Given the description of an element on the screen output the (x, y) to click on. 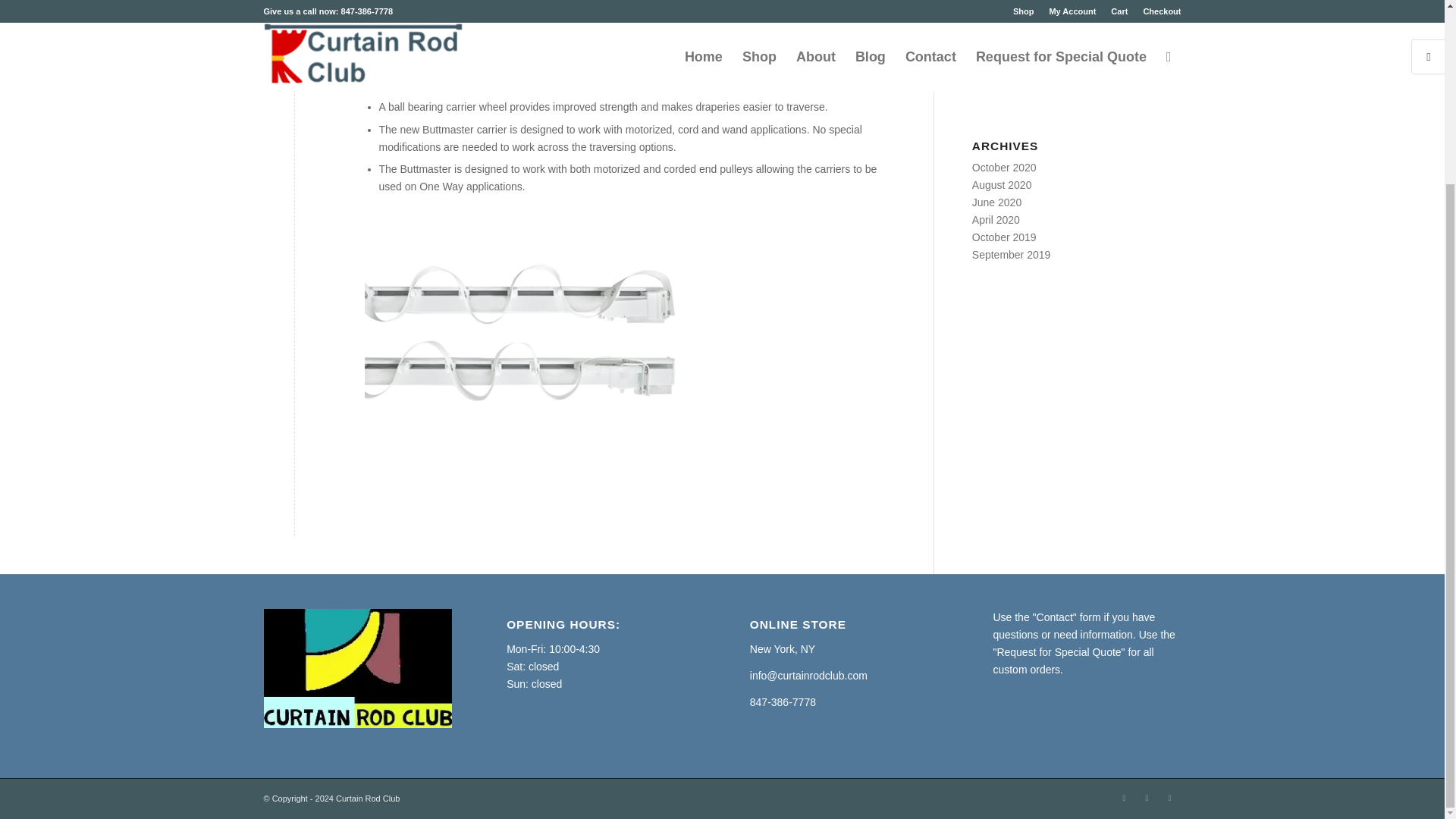
Twitter (1169, 797)
Instagram (1146, 797)
Facebook (1124, 797)
